Given the description of an element on the screen output the (x, y) to click on. 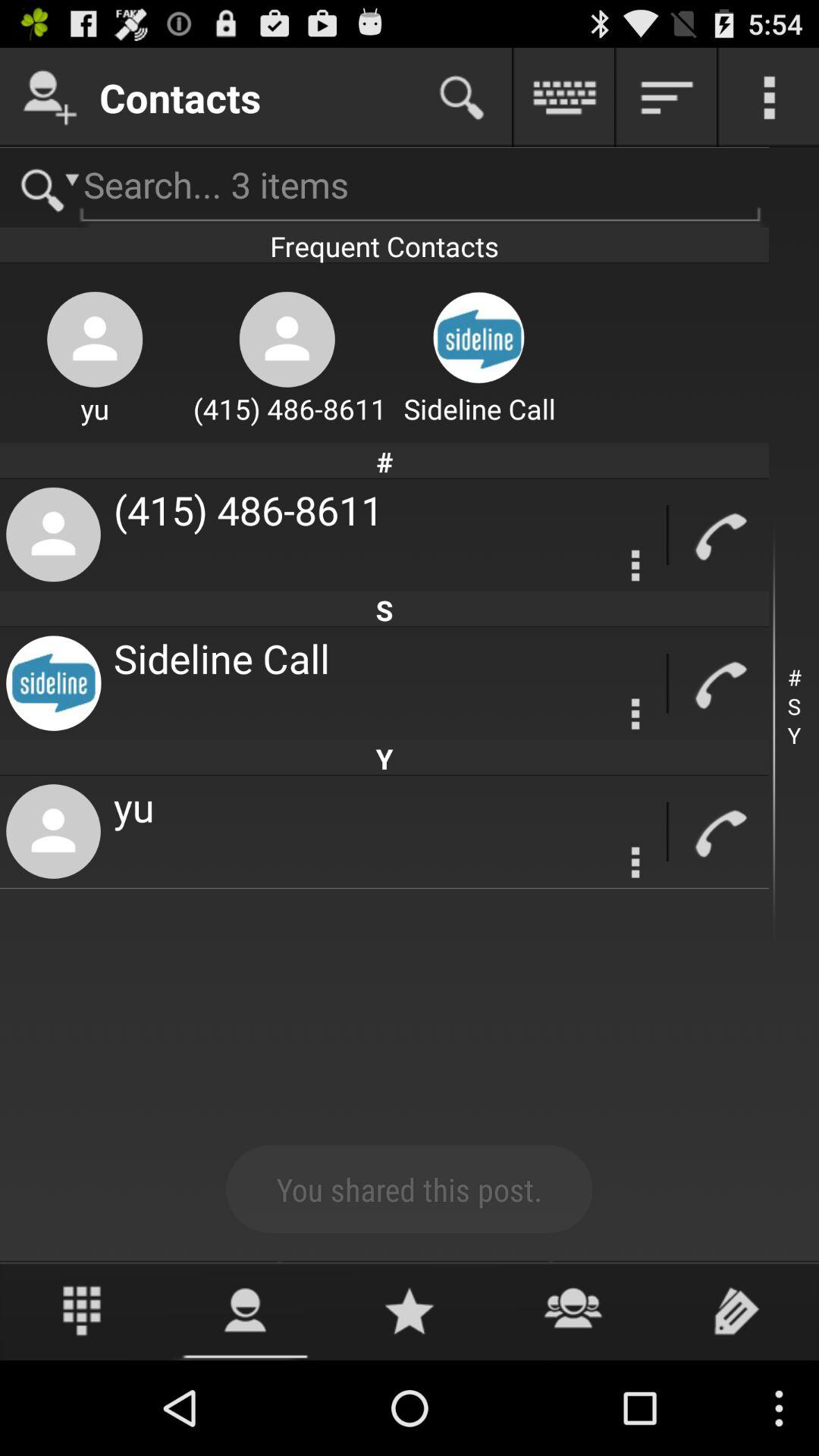
call this contact (718, 534)
